Given the description of an element on the screen output the (x, y) to click on. 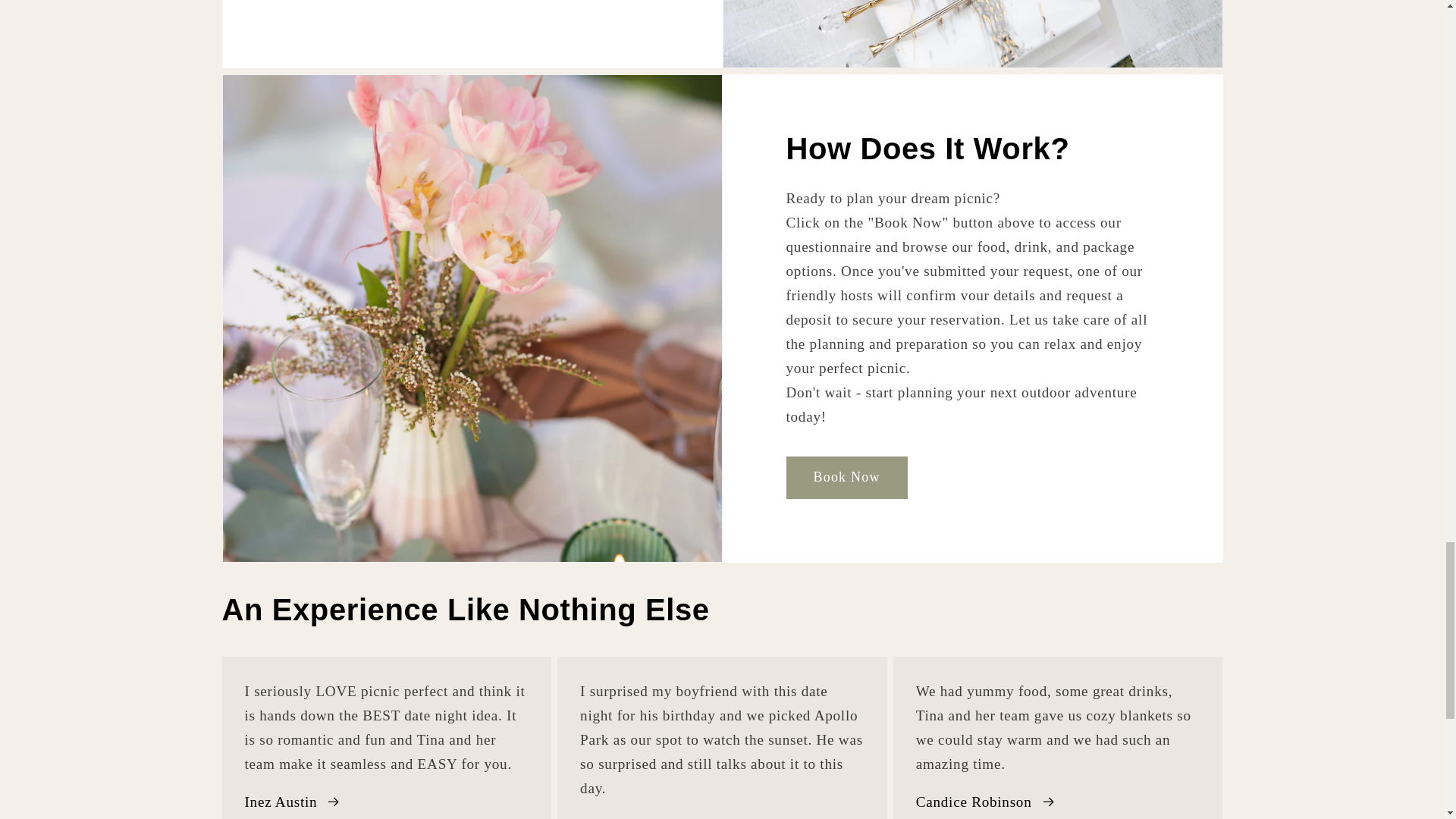
Inez Austin  (293, 802)
Book Now (846, 477)
Susie Roy  (624, 816)
Candice Robinson  (986, 802)
